Given the description of an element on the screen output the (x, y) to click on. 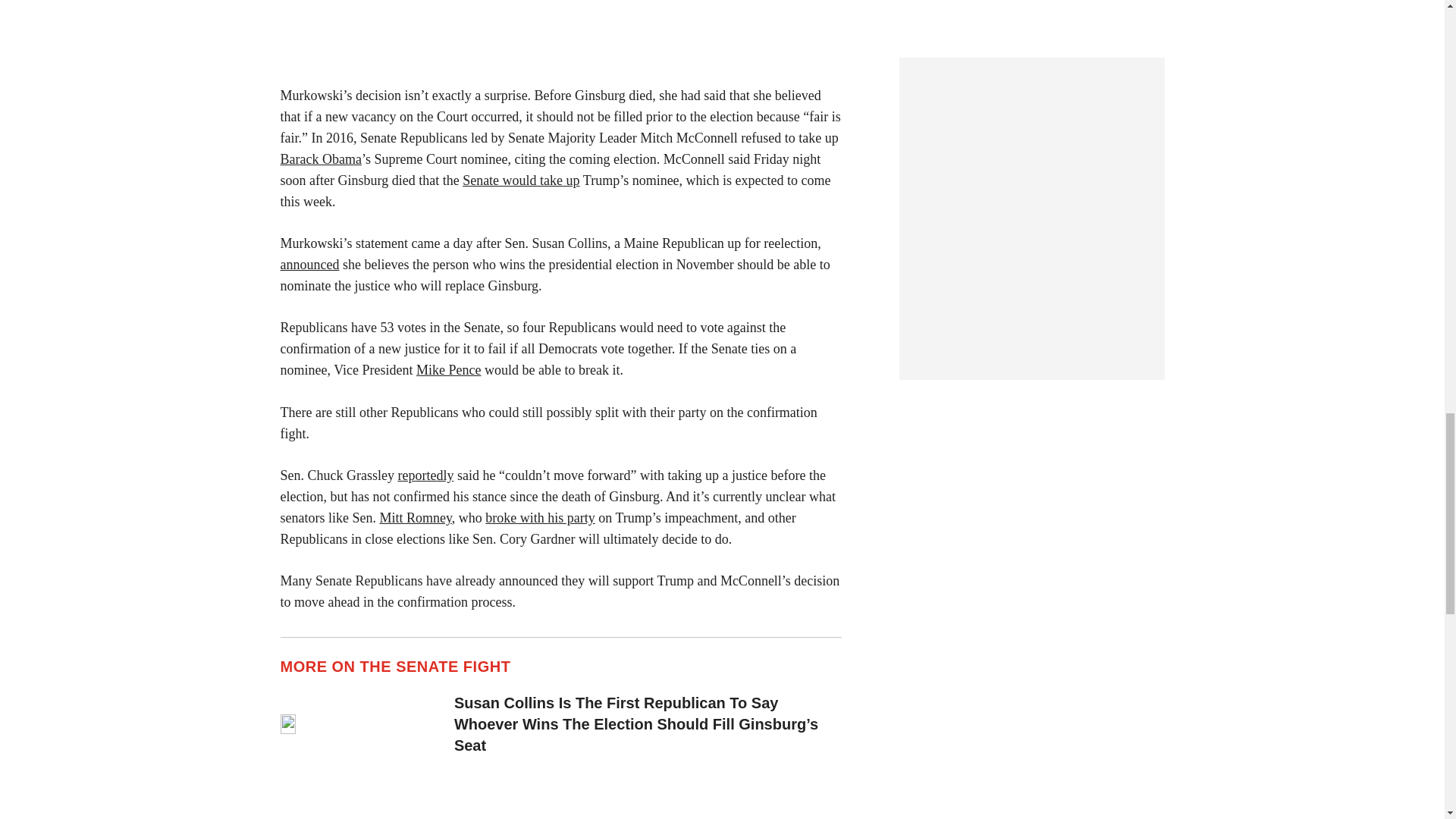
Mike Pence (448, 369)
Mitt Romney (414, 517)
broke with his party (539, 517)
Barack Obama (321, 159)
Senate would take up (521, 180)
reportedly (424, 475)
announced (310, 264)
